Given the description of an element on the screen output the (x, y) to click on. 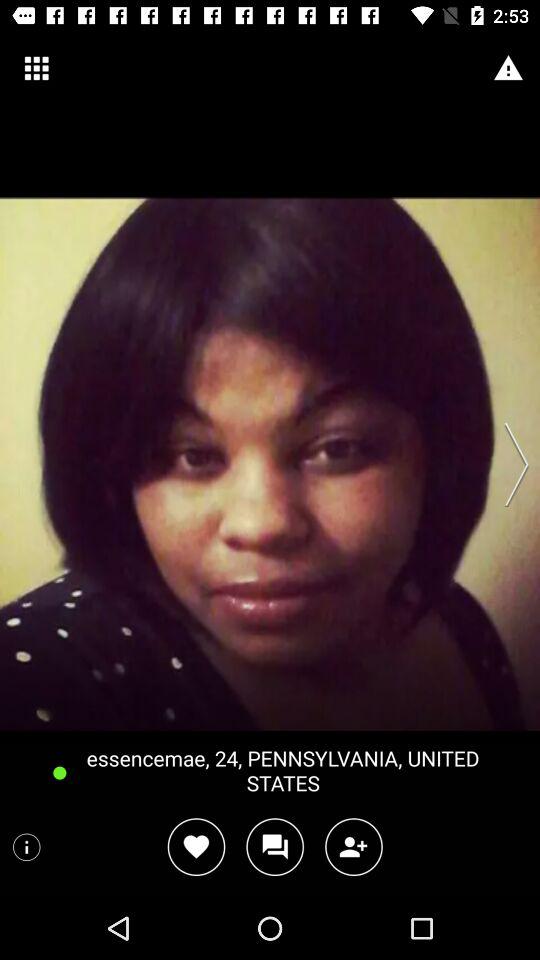
chat box (274, 846)
